Given the description of an element on the screen output the (x, y) to click on. 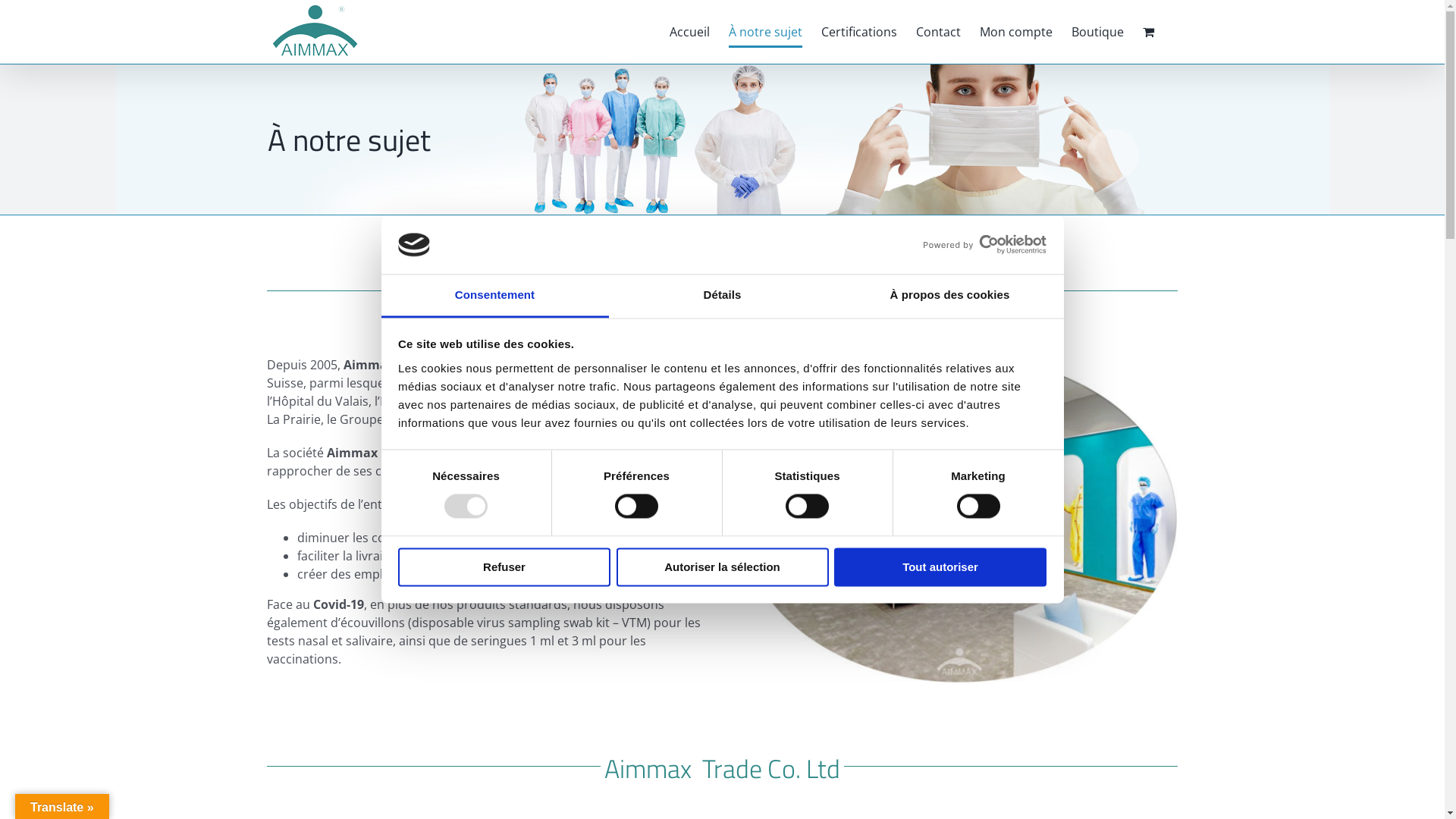
Tout autoriser Element type: text (940, 566)
Refuser Element type: text (504, 566)
Mon compte Element type: text (1015, 31)
Accueil Element type: text (688, 31)
Contact Element type: text (938, 31)
Boutique Element type: text (1096, 31)
Consentement Element type: text (494, 295)
Certifications Element type: text (858, 31)
